Given the description of an element on the screen output the (x, y) to click on. 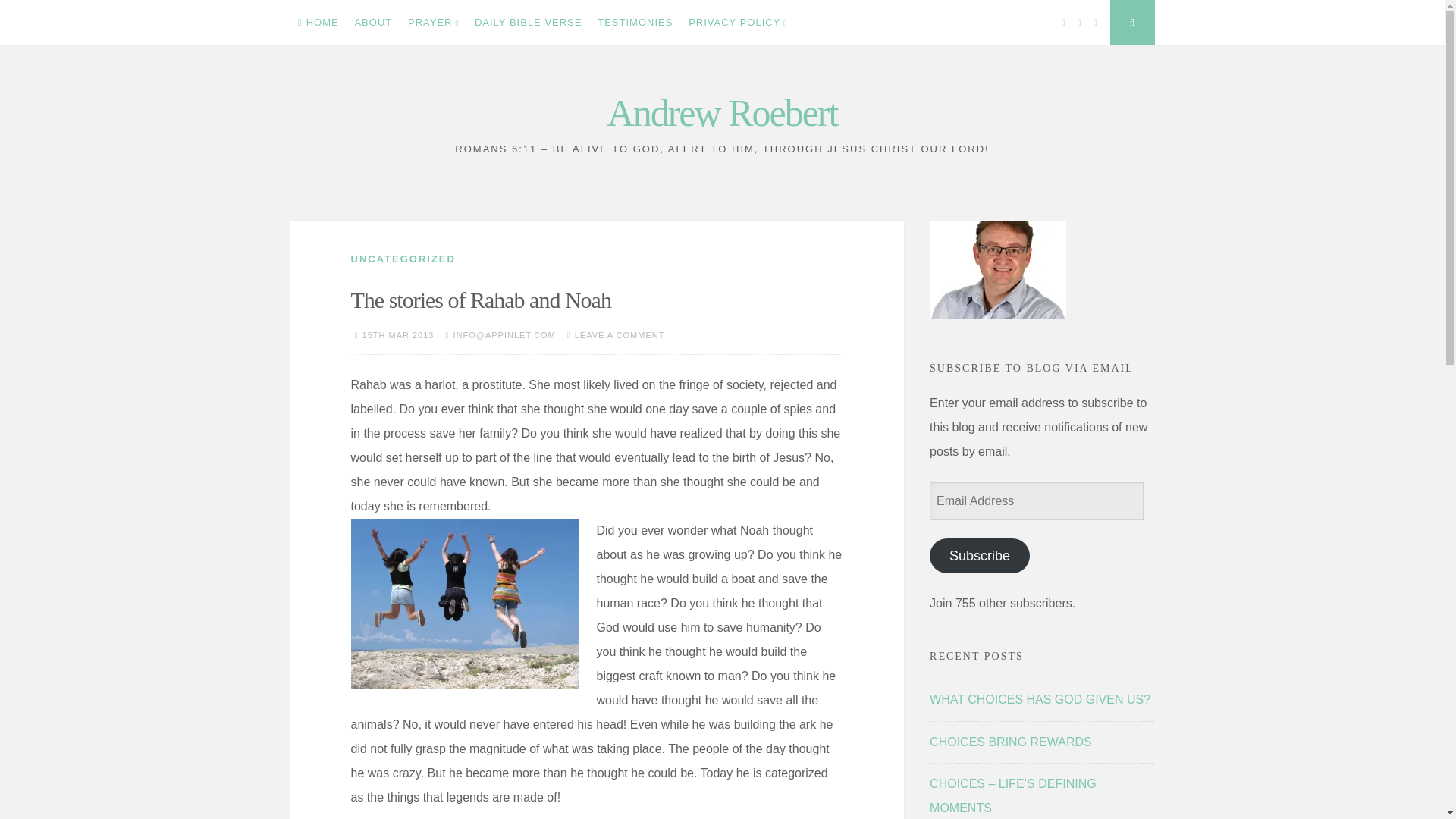
15TH MAR 2013 (397, 334)
CHOICES BRING REWARDS (1011, 741)
DAILY BIBLE VERSE (528, 22)
LEAVE A COMMENT (620, 334)
WHAT CHOICES HAS GOD GIVEN US? (1040, 698)
UNCATEGORIZED (402, 258)
PRIVACY POLICY (737, 22)
PRAYER (433, 22)
Subscribe (979, 555)
TESTIMONIES (635, 22)
ABOUT (373, 22)
Andrew Roebert (722, 112)
HOME (317, 22)
